Given the description of an element on the screen output the (x, y) to click on. 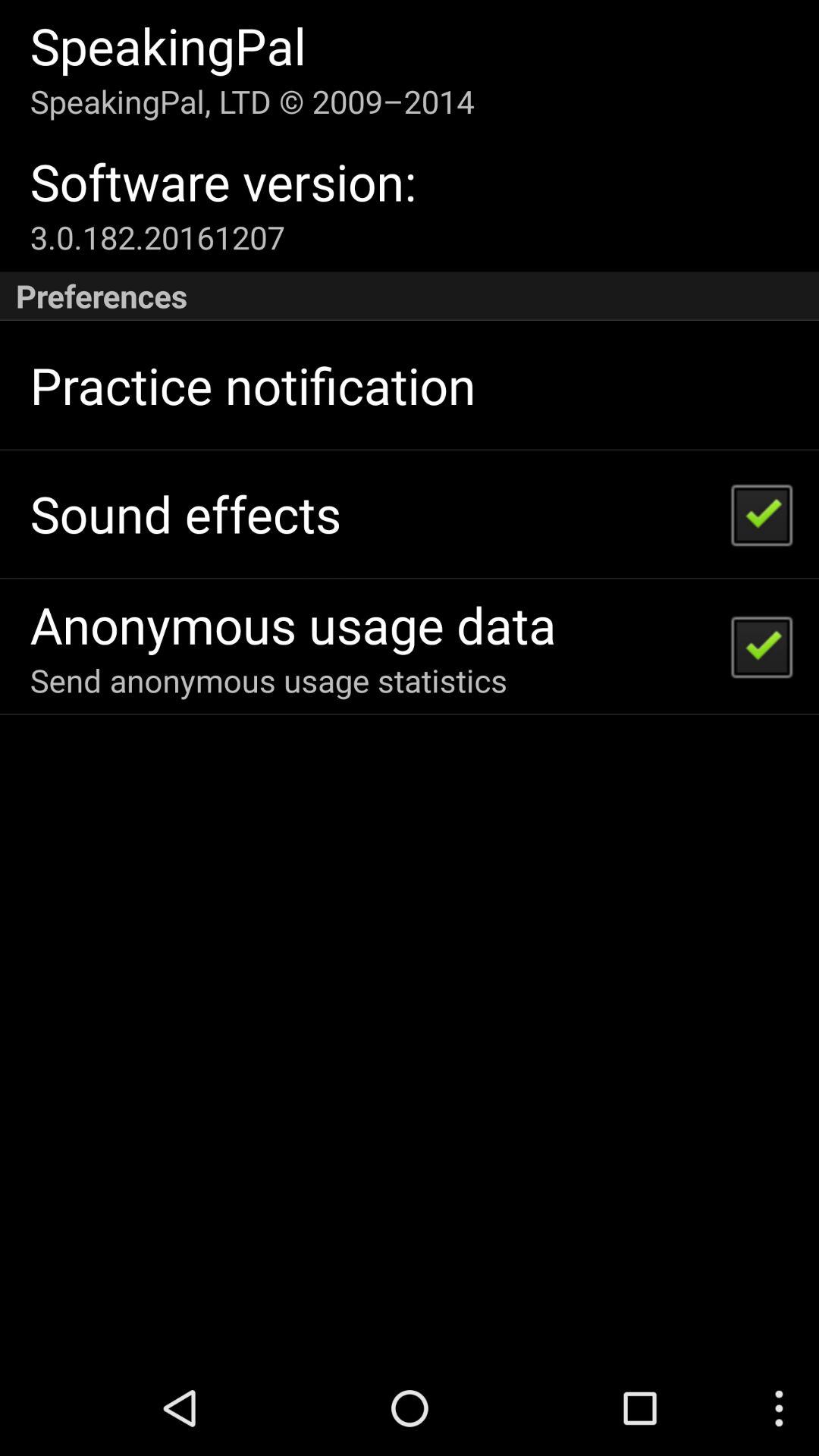
launch the icon below 3 0 182 icon (409, 295)
